Given the description of an element on the screen output the (x, y) to click on. 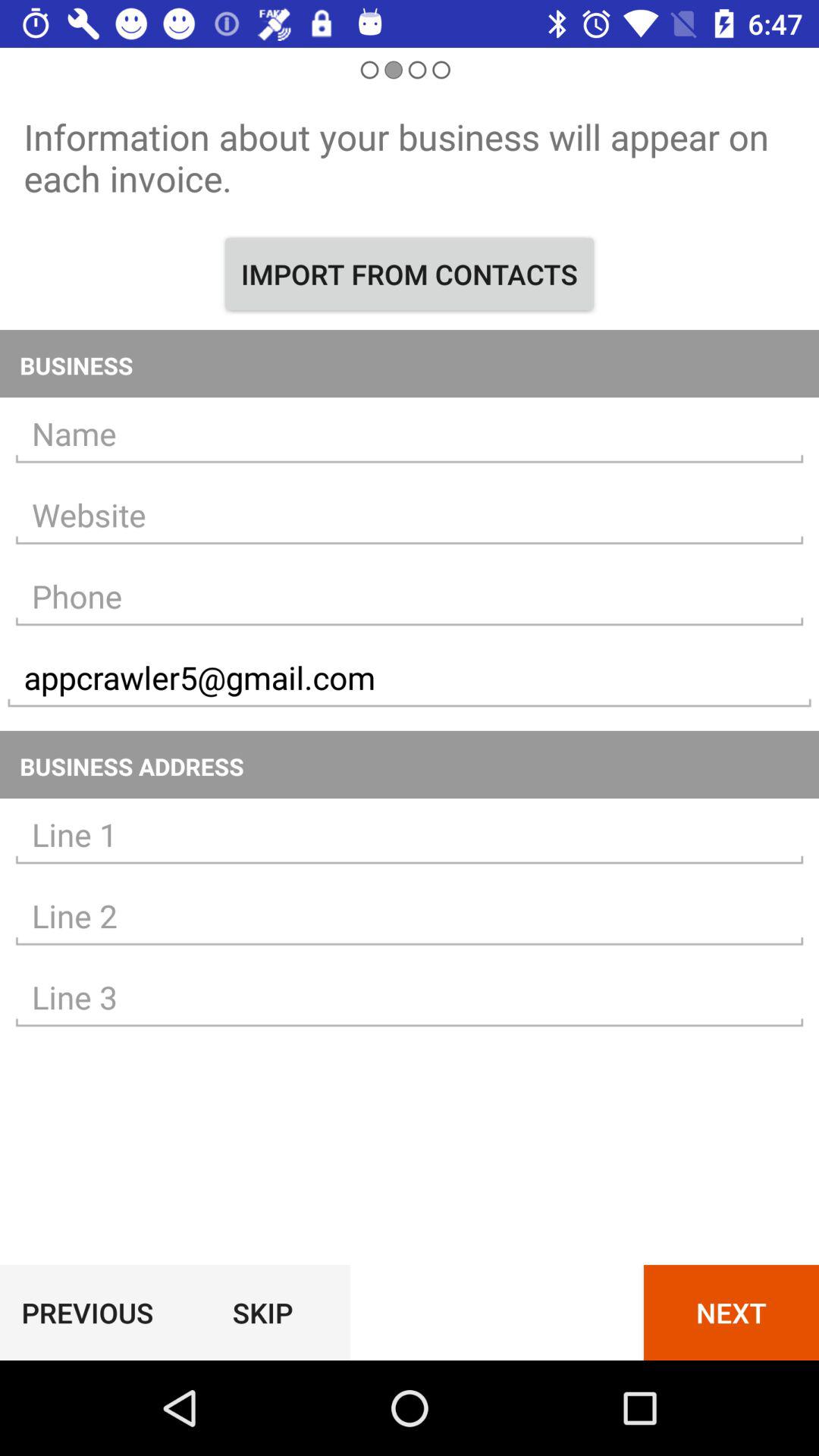
choose the icon to the left of the next (262, 1312)
